Given the description of an element on the screen output the (x, y) to click on. 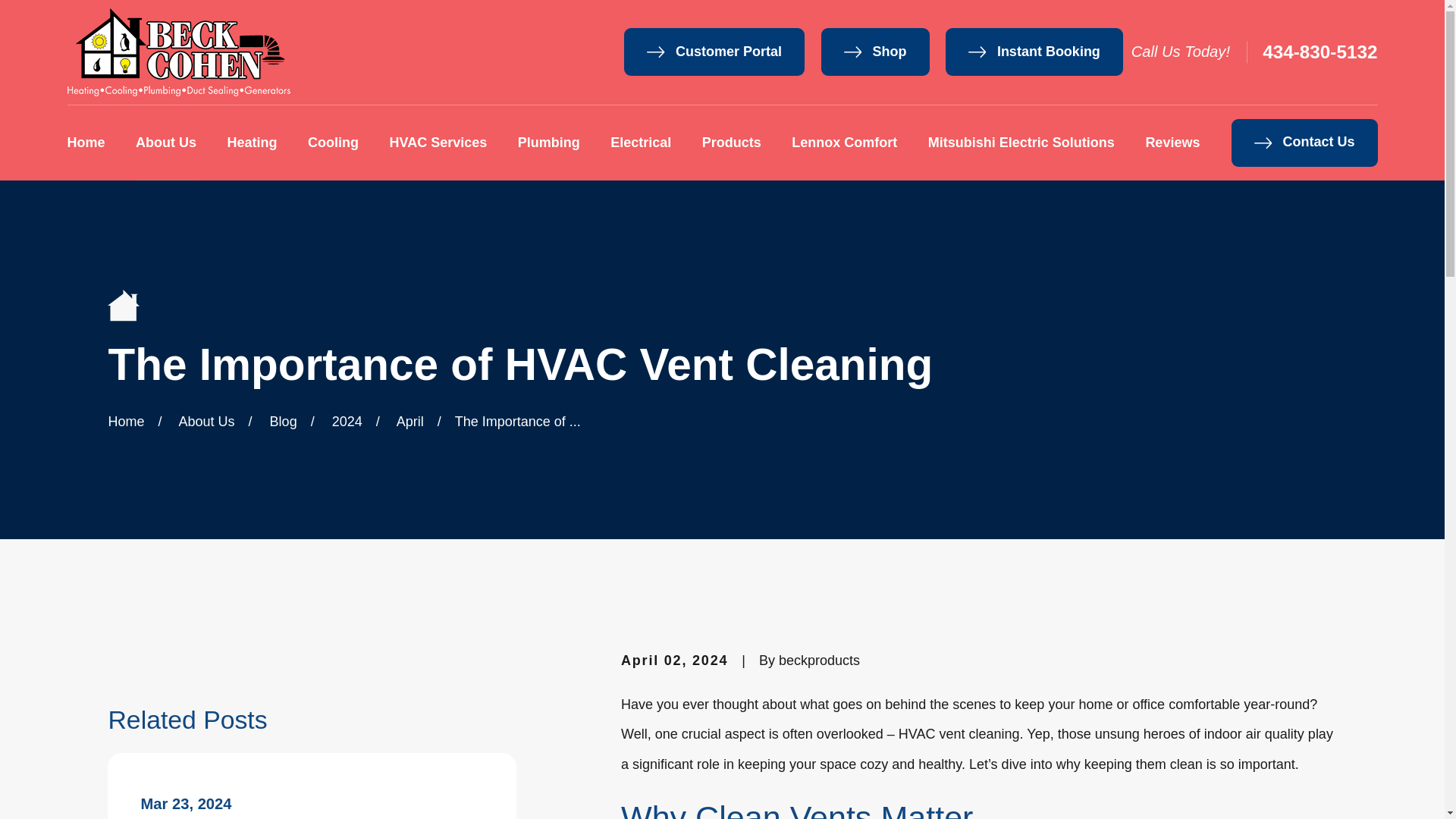
Shop (875, 51)
434-830-5132 (1319, 51)
Instant Booking (1033, 51)
Home (177, 52)
Go Home (125, 421)
HVAC Services (438, 142)
Customer Portal (714, 51)
Plumbing (548, 142)
Heating (252, 142)
Cooling (332, 142)
About Us (165, 142)
